Given the description of an element on the screen output the (x, y) to click on. 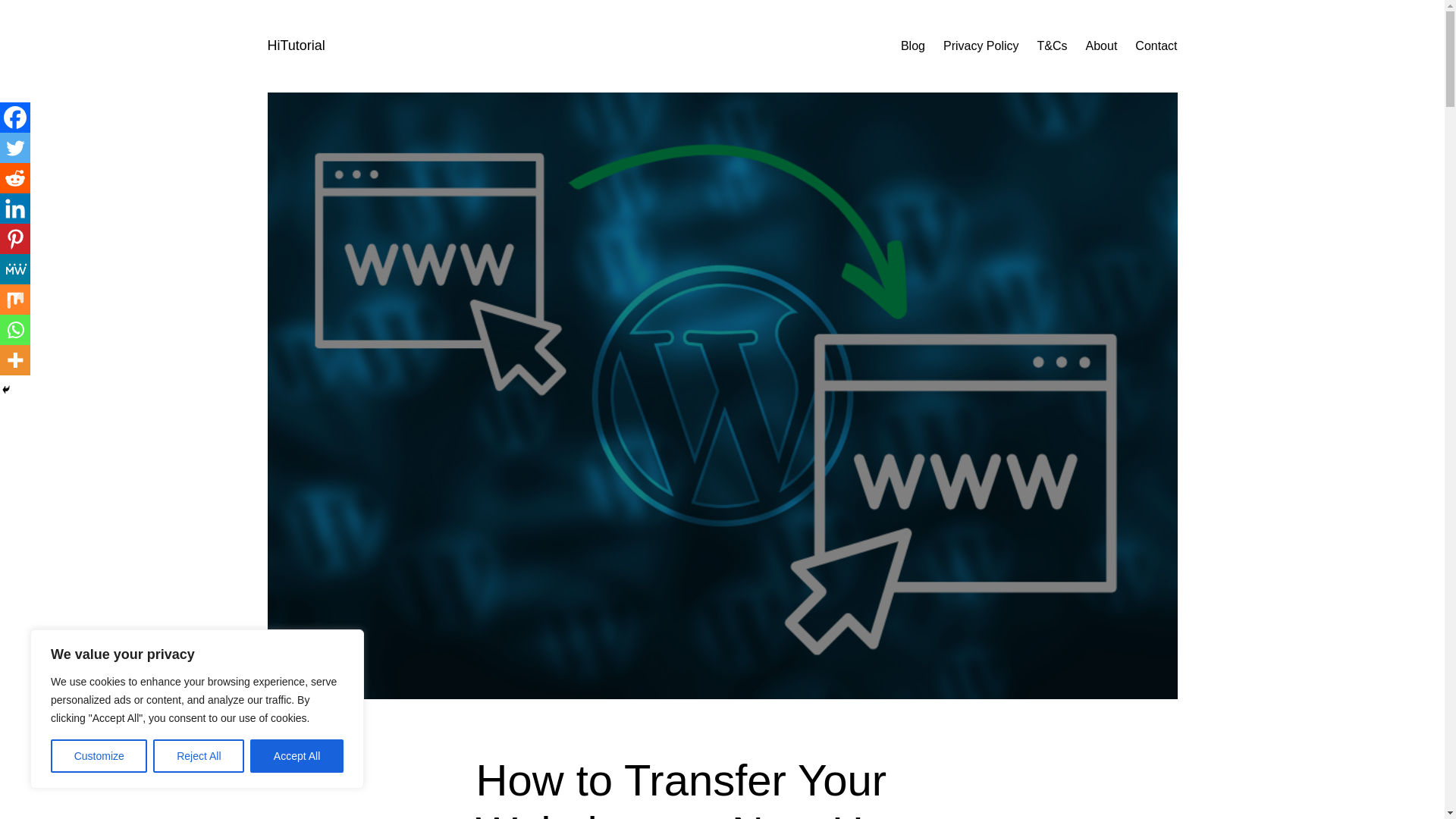
Privacy Policy (981, 46)
Customize (98, 756)
Blog (912, 46)
Reject All (198, 756)
About (1102, 46)
Contact (1155, 46)
Accept All (296, 756)
HiTutorial (295, 45)
